Given the description of an element on the screen output the (x, y) to click on. 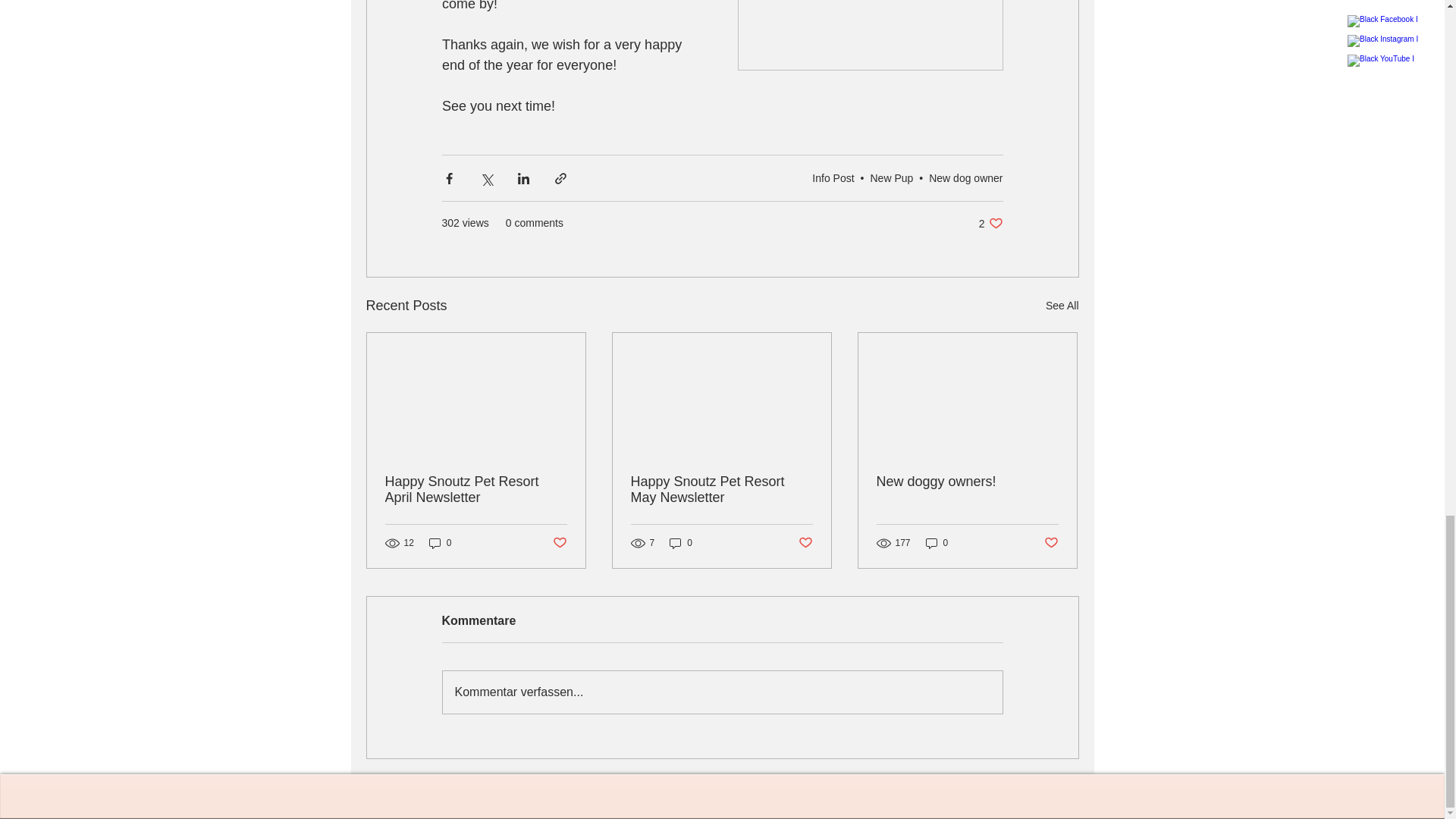
New dog owner (965, 177)
Info Post (832, 177)
See All (1061, 305)
Happy Snoutz Pet Resort April Newsletter (476, 490)
0 (440, 542)
New Pup (892, 177)
